Given the description of an element on the screen output the (x, y) to click on. 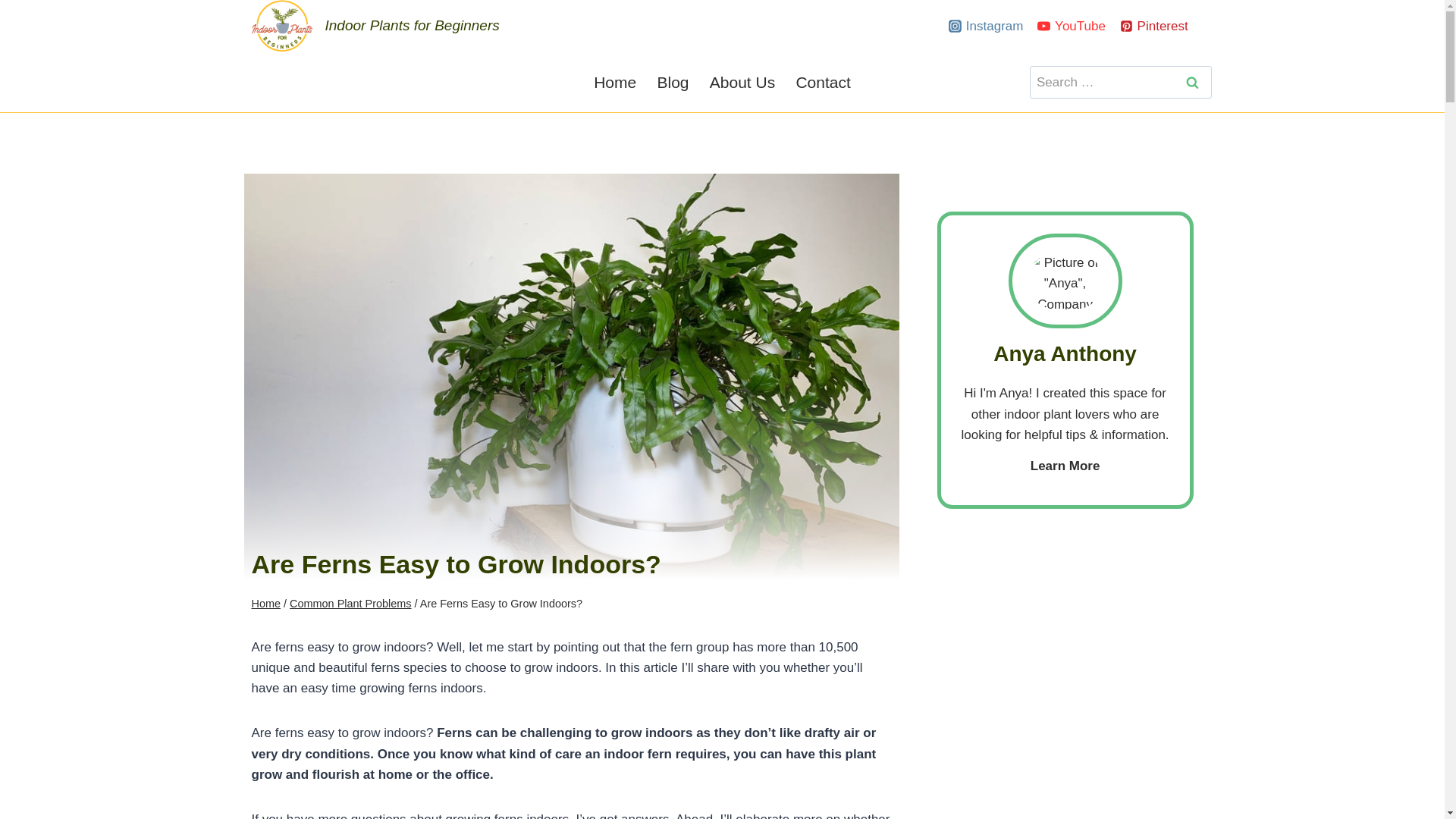
Search (1192, 82)
Search (1192, 82)
Indoor Plants for Beginners (375, 25)
Pinterest (1154, 25)
Contact (823, 82)
Instagram (985, 25)
Common Plant Problems (349, 603)
About Us (742, 82)
Blog (672, 82)
YouTube (1070, 25)
Home (614, 82)
Search (1192, 82)
Home (266, 603)
